Given the description of an element on the screen output the (x, y) to click on. 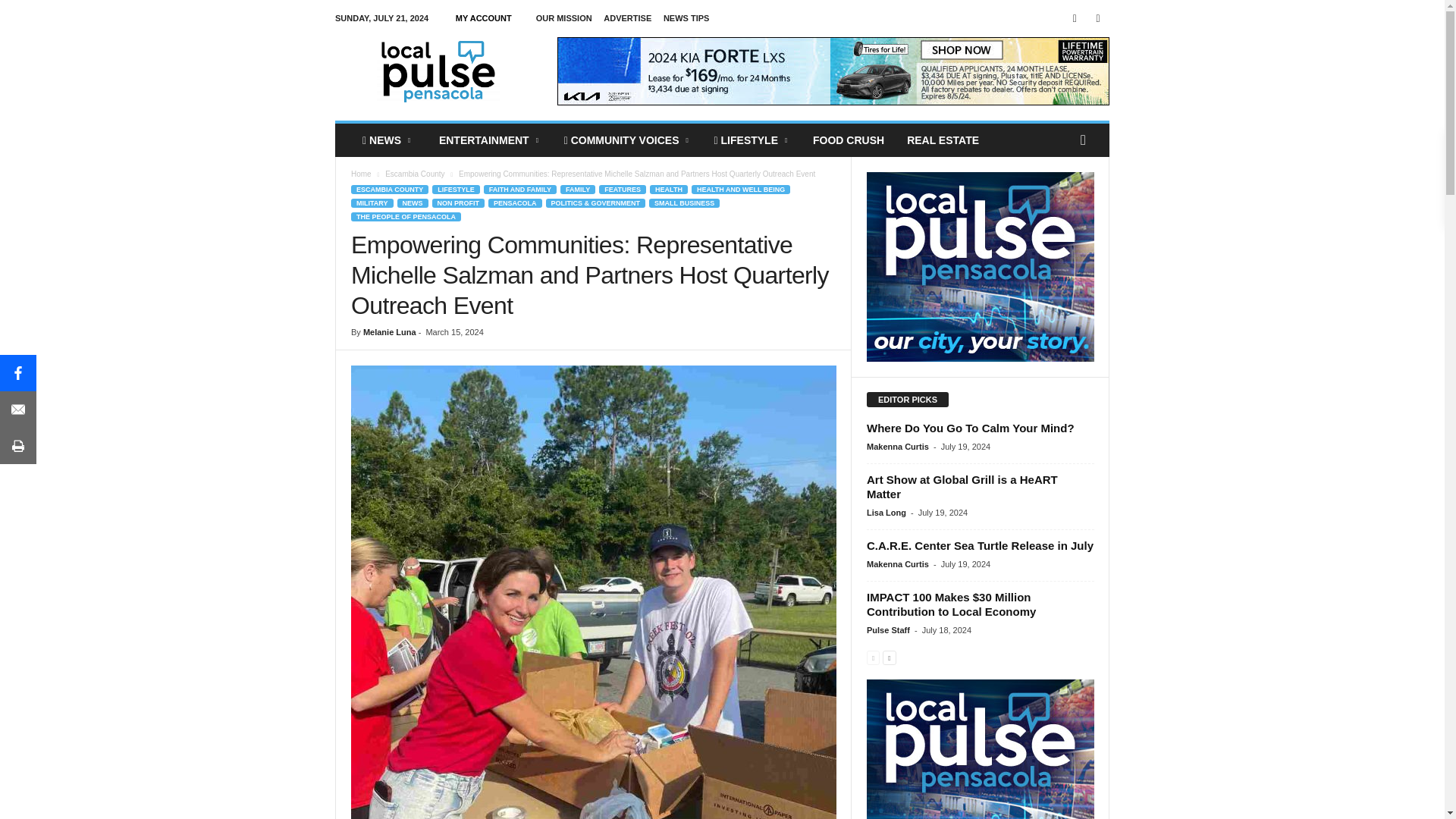
Local Pulse (437, 70)
NEWS TIPS (686, 17)
ADVERTISE (627, 17)
OUR MISSION (563, 17)
NEWS (387, 140)
